Given the description of an element on the screen output the (x, y) to click on. 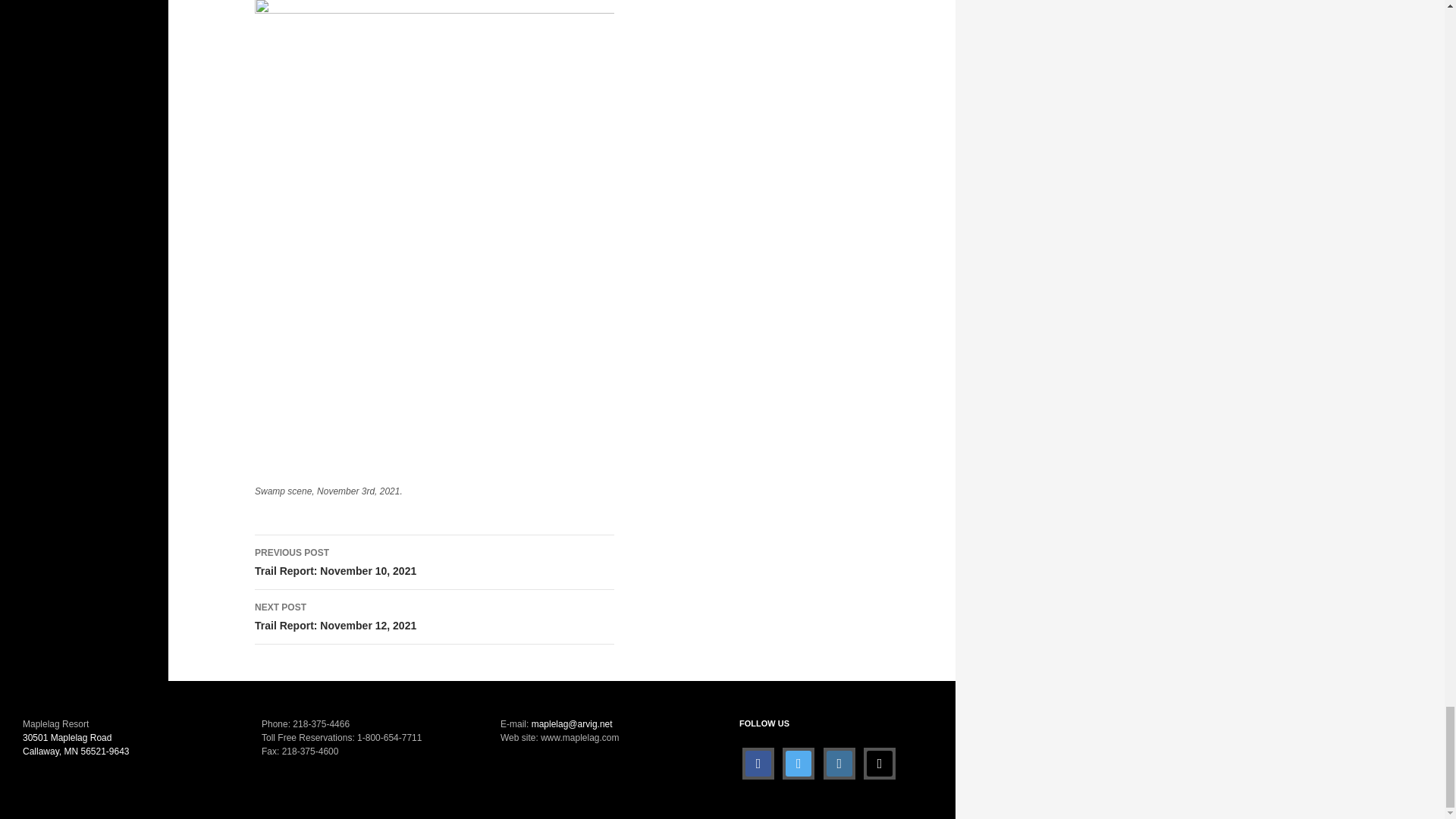
Follow Me (434, 562)
Instagram (434, 616)
Friend me on Facebook (798, 762)
